Given the description of an element on the screen output the (x, y) to click on. 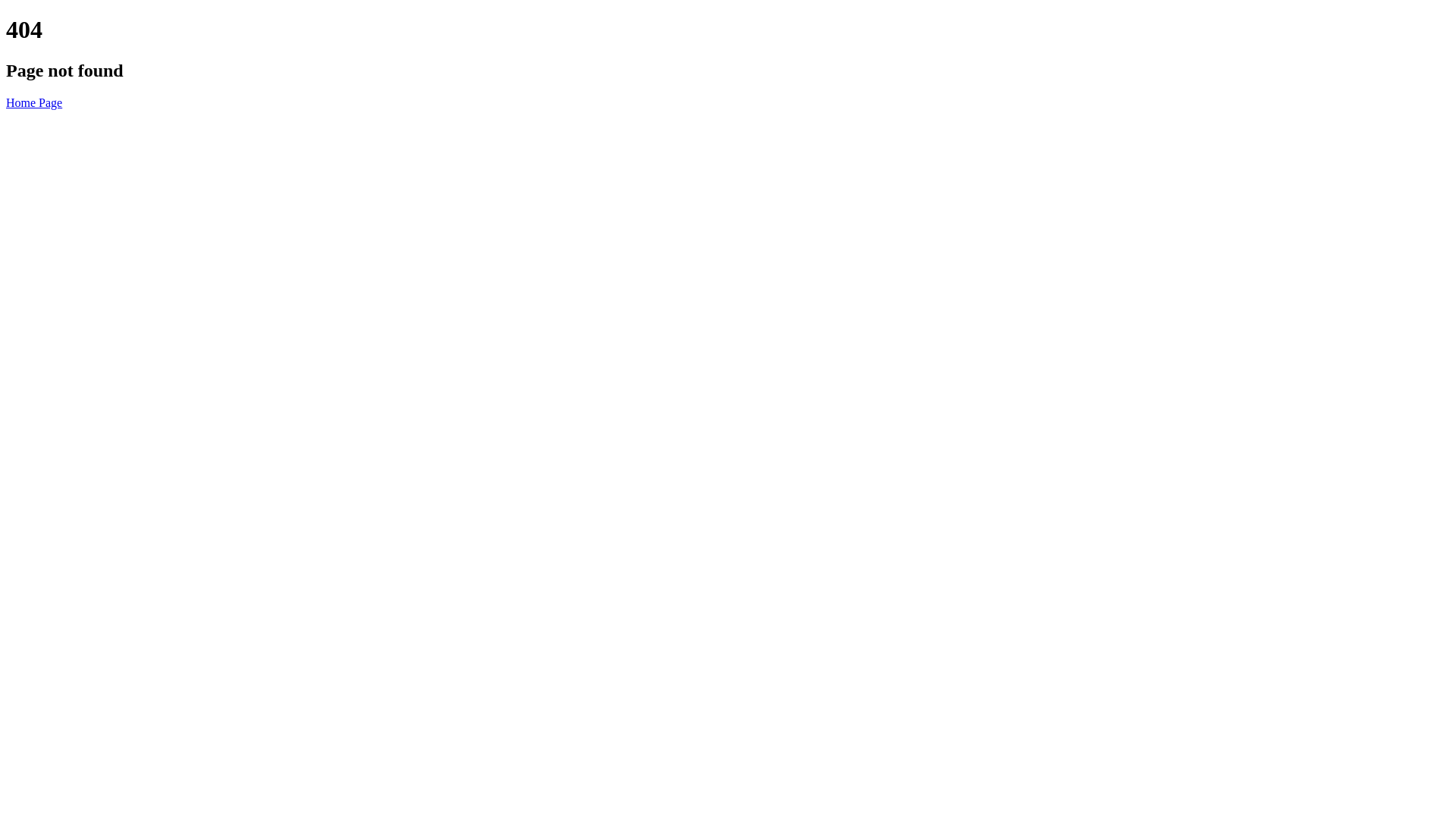
Home Page Element type: text (34, 102)
